Given the description of an element on the screen output the (x, y) to click on. 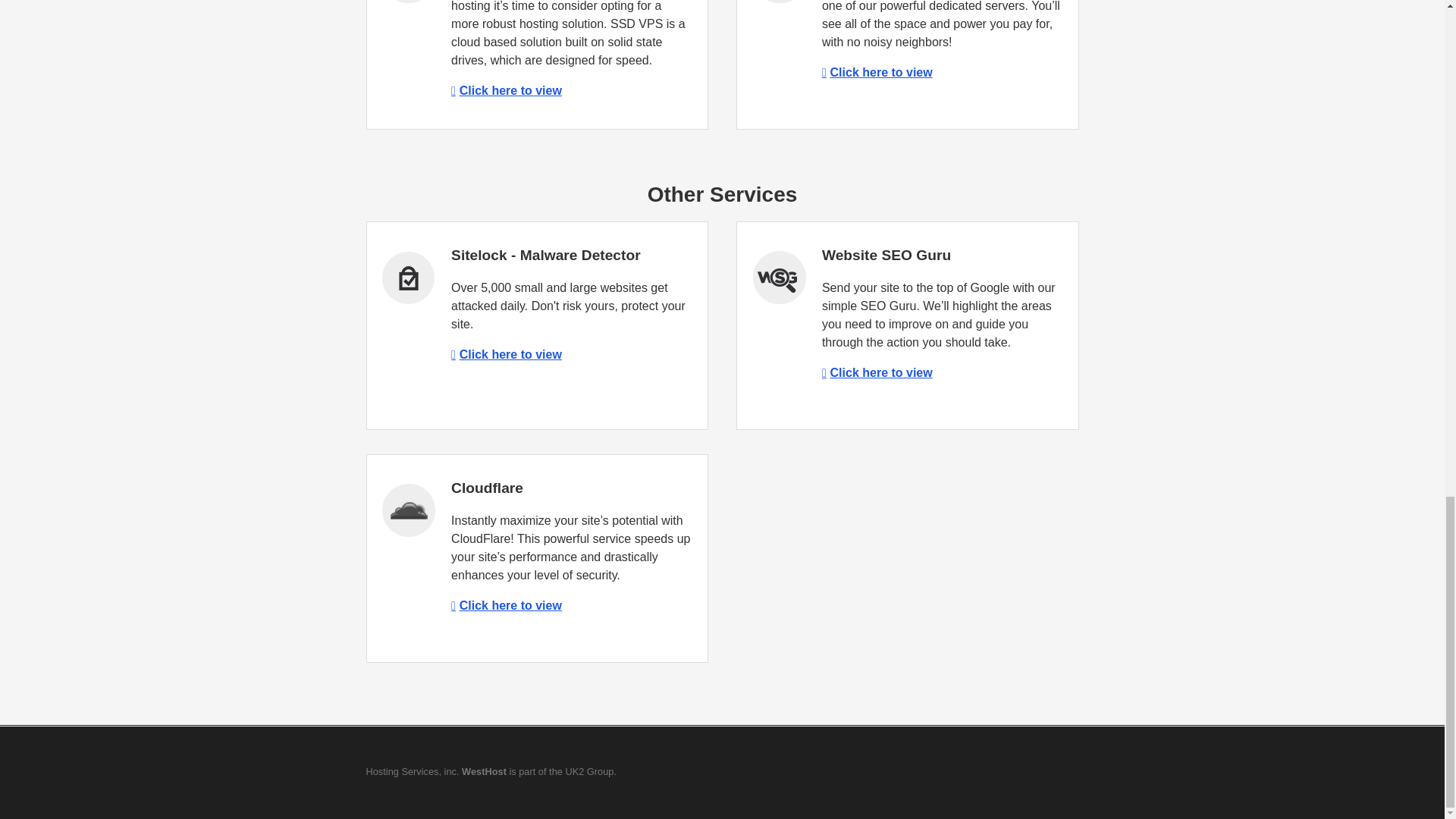
Click here to view (506, 90)
Click here to view (877, 72)
WestHost (483, 771)
Click here to view (506, 604)
Click here to view (877, 372)
Click here to view (506, 354)
